Given the description of an element on the screen output the (x, y) to click on. 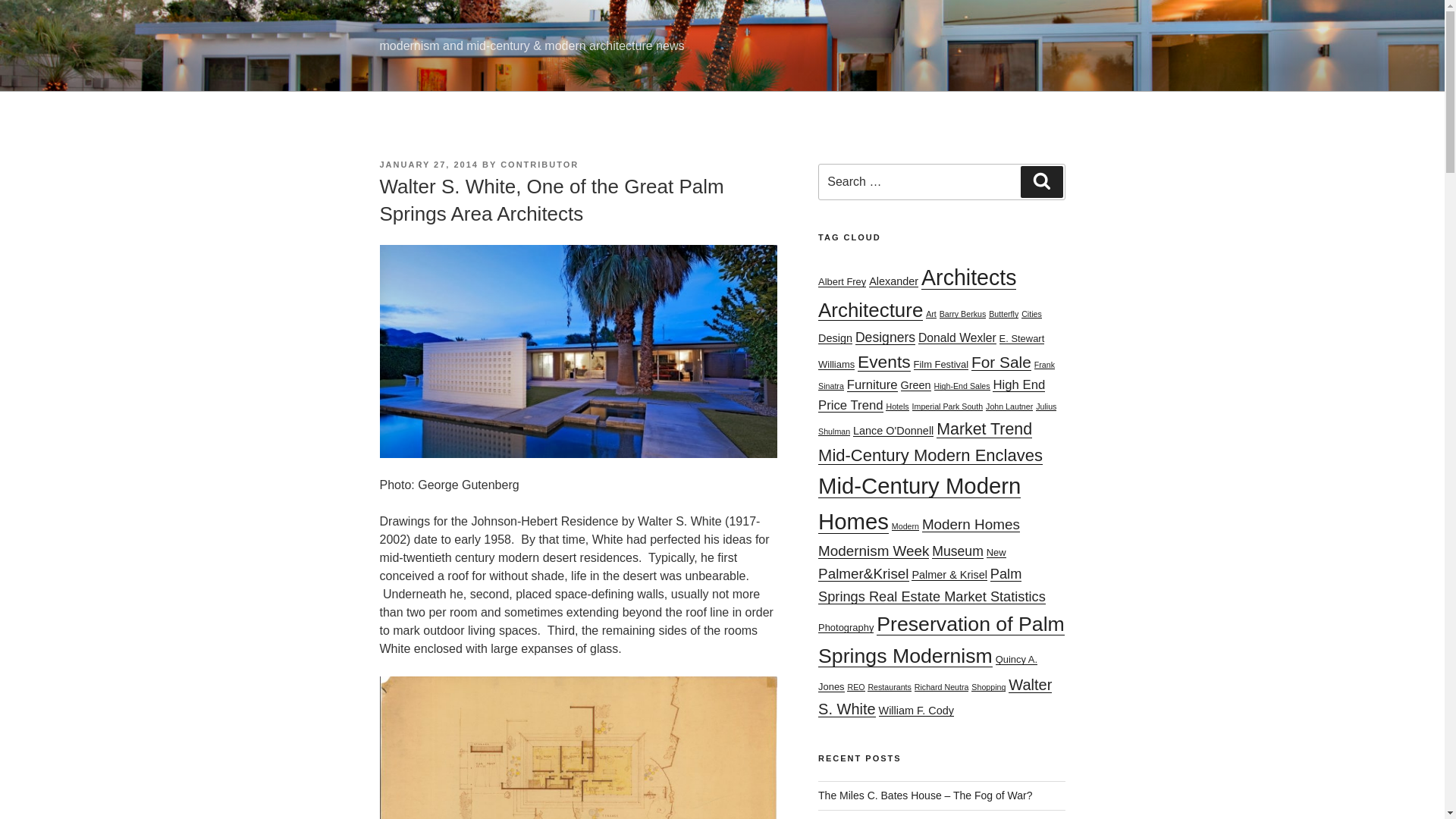
Events (884, 361)
Julius Shulman (937, 418)
Architecture (870, 310)
Butterfly (1002, 313)
E. Stewart Williams (930, 351)
Search (1041, 182)
Furniture (872, 384)
Albert Frey (842, 281)
Architects (968, 277)
Design (834, 337)
